Given the description of an element on the screen output the (x, y) to click on. 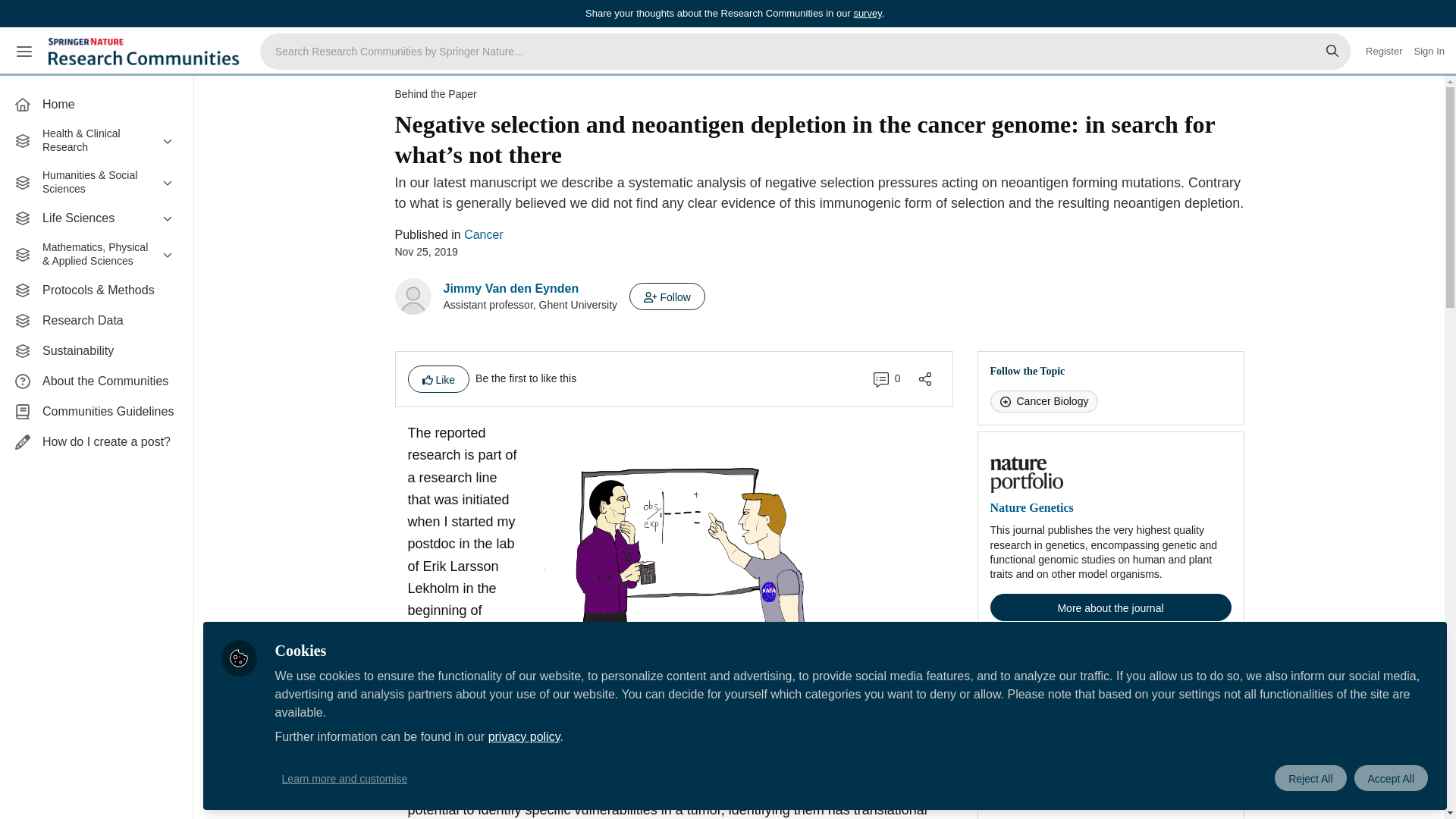
Menu (24, 51)
Life Sciences (96, 217)
Home (96, 103)
survey (866, 12)
Search (1332, 51)
Home (96, 103)
Life Sciences (96, 217)
Research Communities by Springer Nature (146, 51)
